Given the description of an element on the screen output the (x, y) to click on. 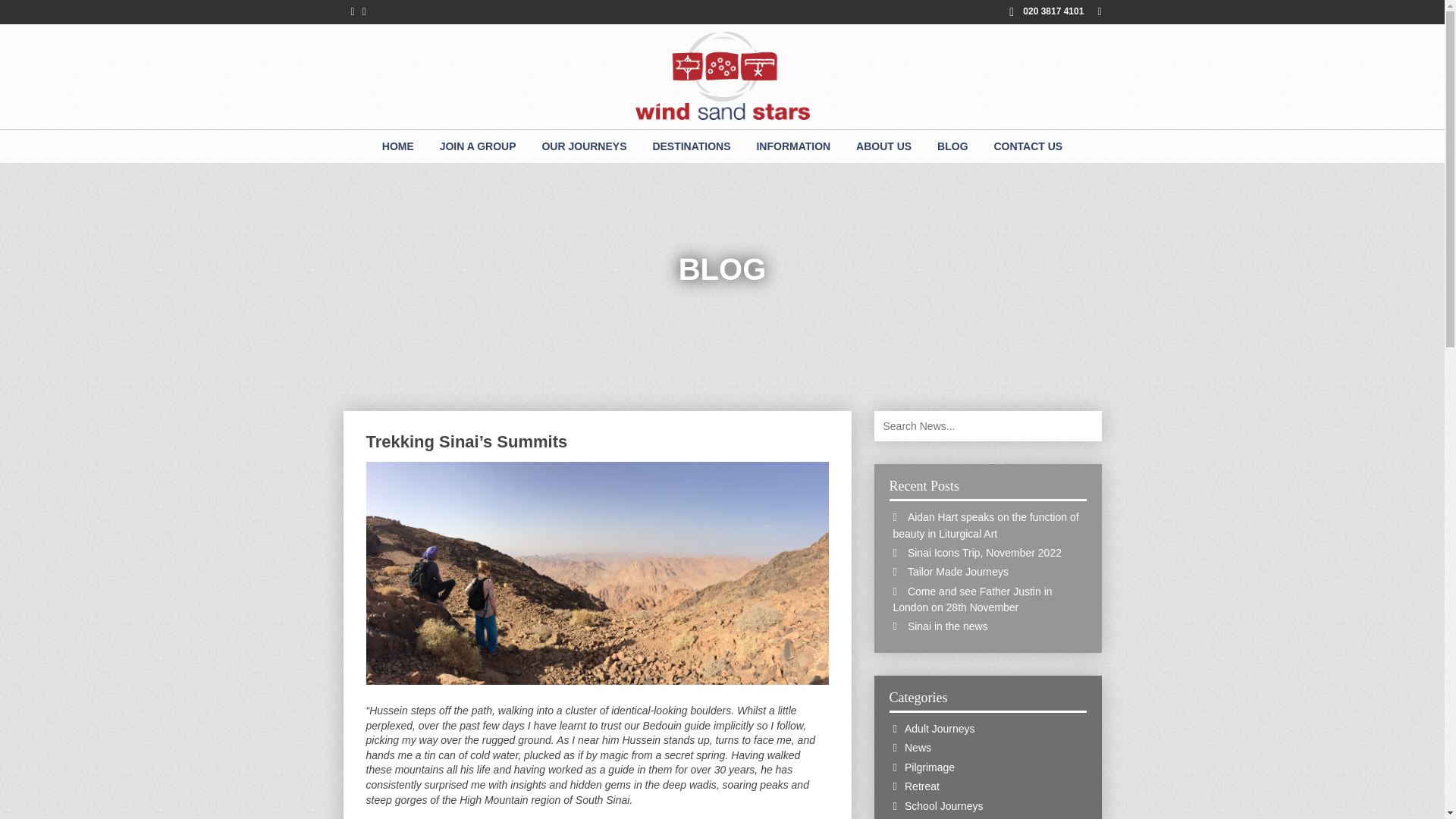
OUR JOURNEYS (583, 145)
020 3817 4101 (1046, 10)
HOME (398, 145)
JOIN A GROUP (477, 145)
